Given the description of an element on the screen output the (x, y) to click on. 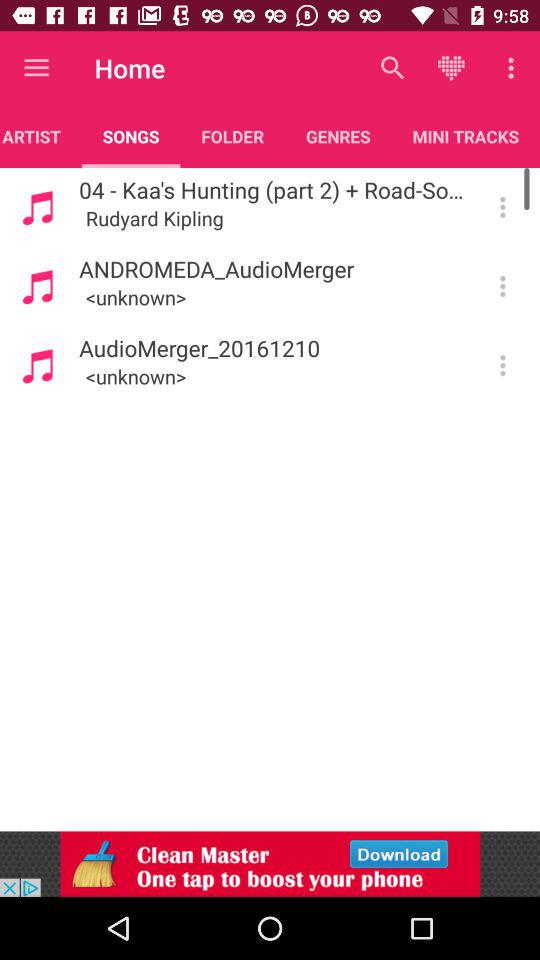
see menu (502, 207)
